Given the description of an element on the screen output the (x, y) to click on. 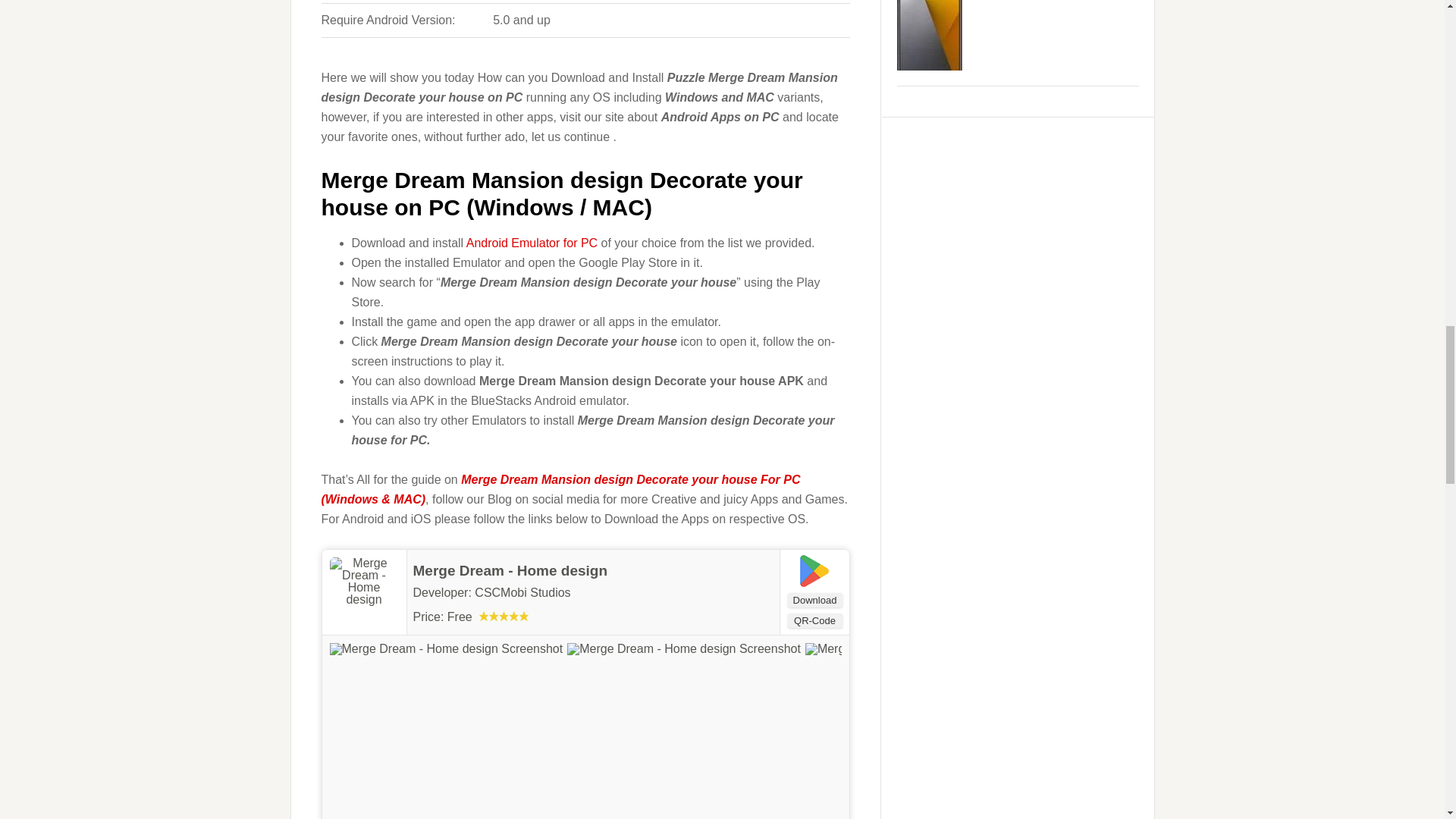
5 of 5 stars (503, 615)
CSCMobi Studios (522, 592)
Android Emulator for PC (530, 242)
Download (814, 599)
Merge Dream - Home design (509, 570)
